Given the description of an element on the screen output the (x, y) to click on. 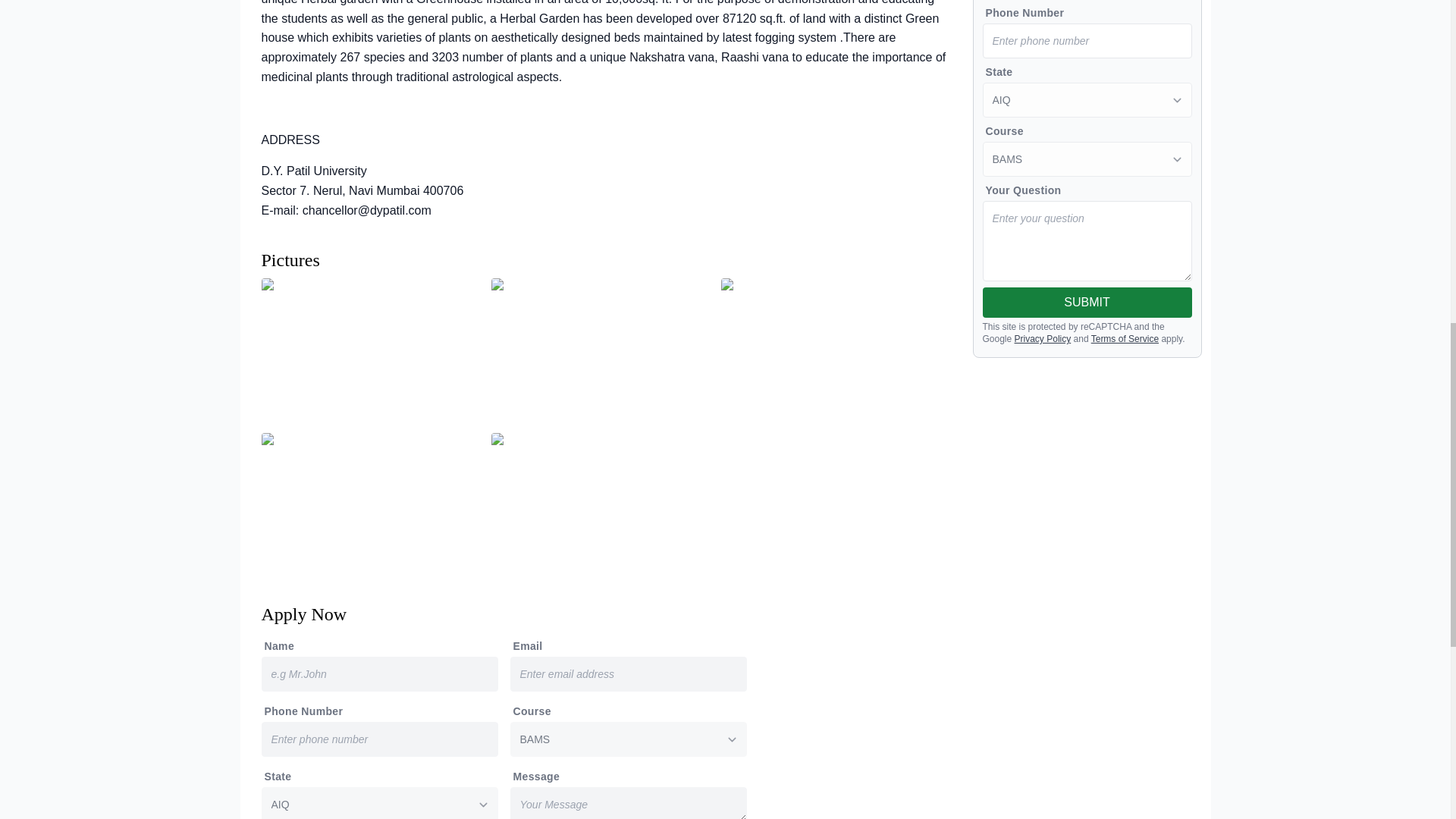
SUBMIT (1087, 302)
Privacy Policy (1042, 338)
Terms of Service (1124, 338)
